Given the description of an element on the screen output the (x, y) to click on. 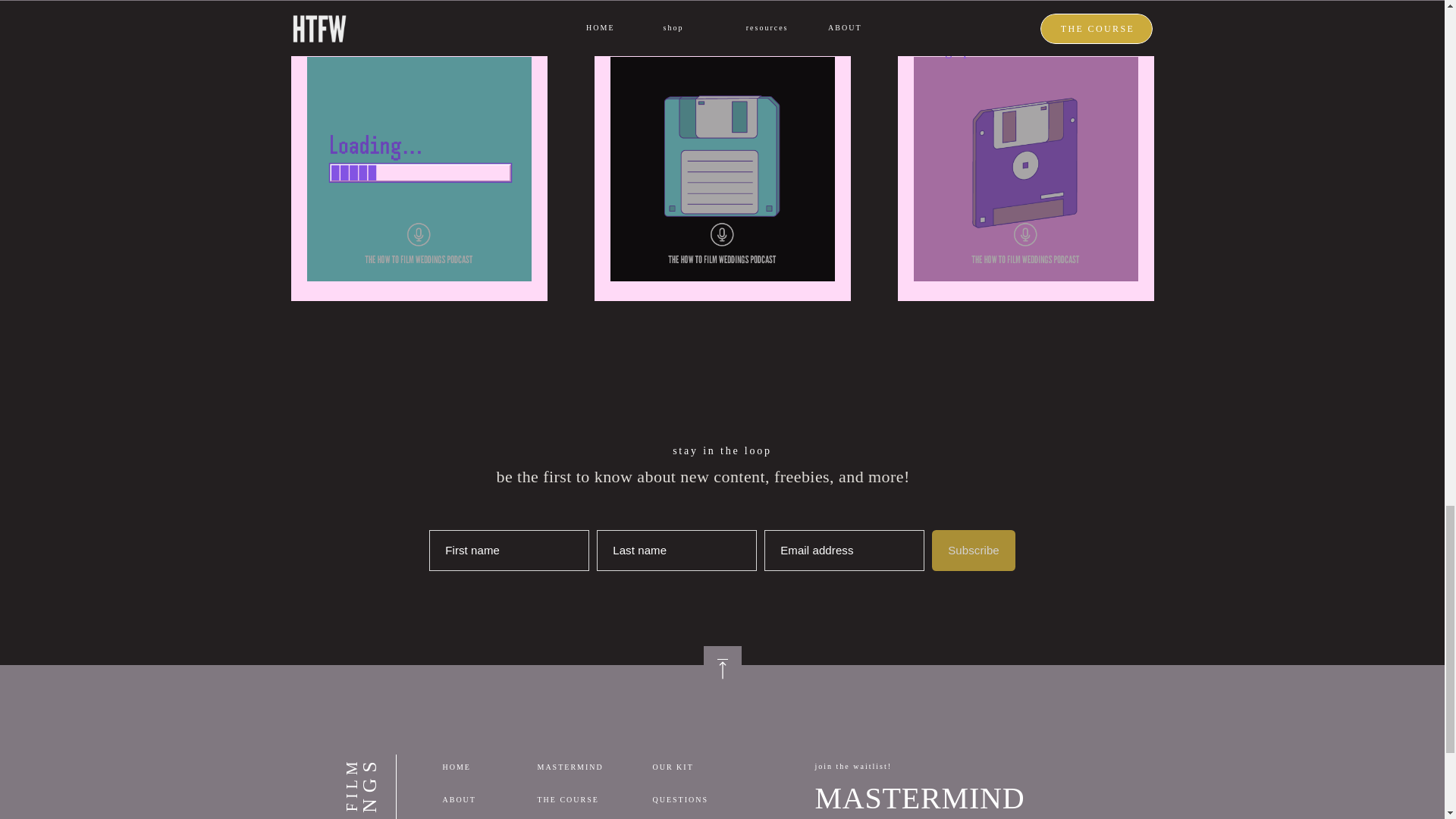
Episode 325: How To Level Up Your Website As You Grow (722, 168)
ABOUT (488, 799)
Subscribe (972, 549)
THE COURSE (583, 799)
WEDDINGS (433, 775)
HOME (488, 766)
OUR KIT (706, 766)
episode 325: how to level up your website as you grow (707, 26)
HOW TO FILM (418, 775)
